Given the description of an element on the screen output the (x, y) to click on. 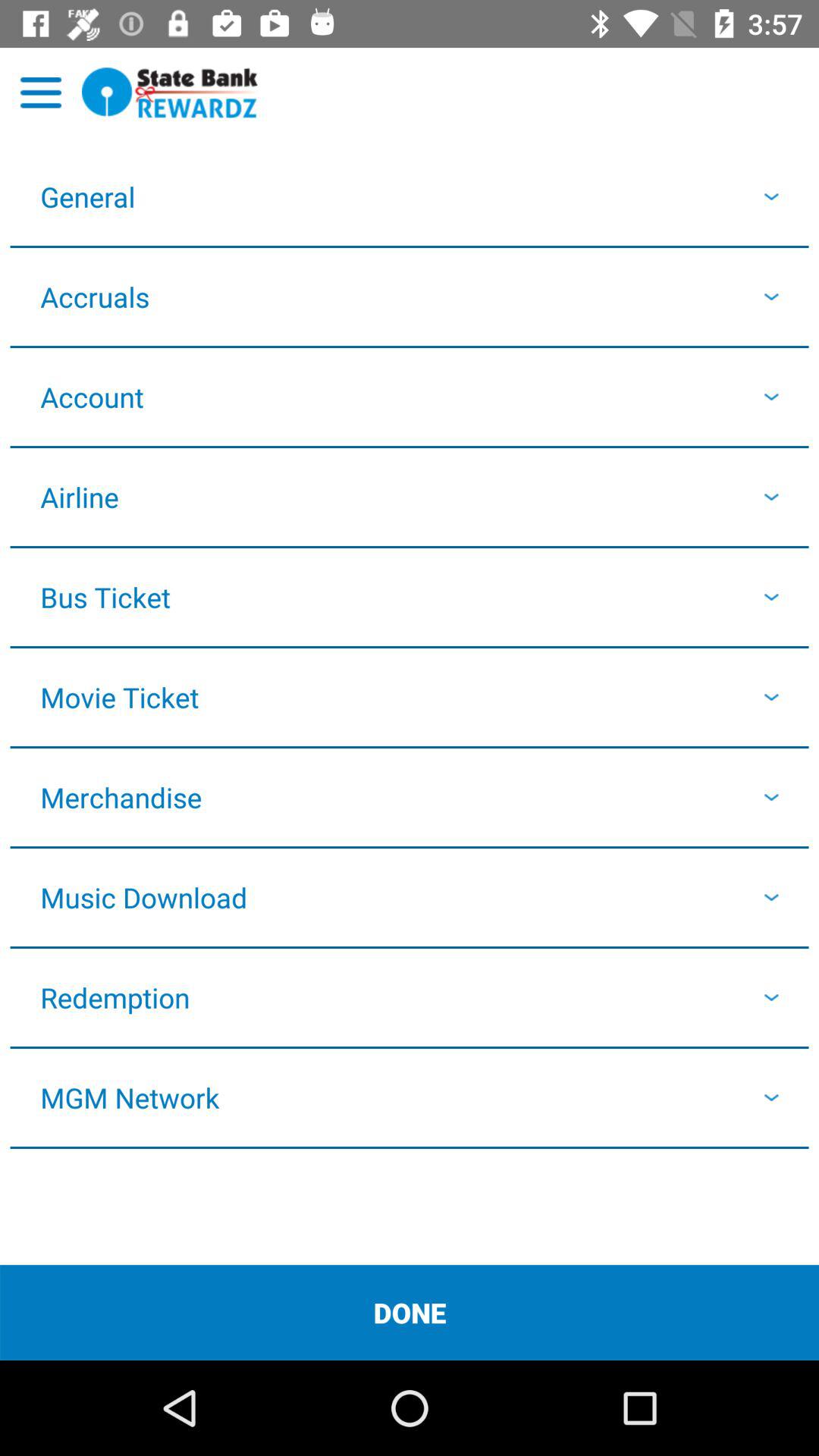
launch the icon below mgm network app (409, 1312)
